Given the description of an element on the screen output the (x, y) to click on. 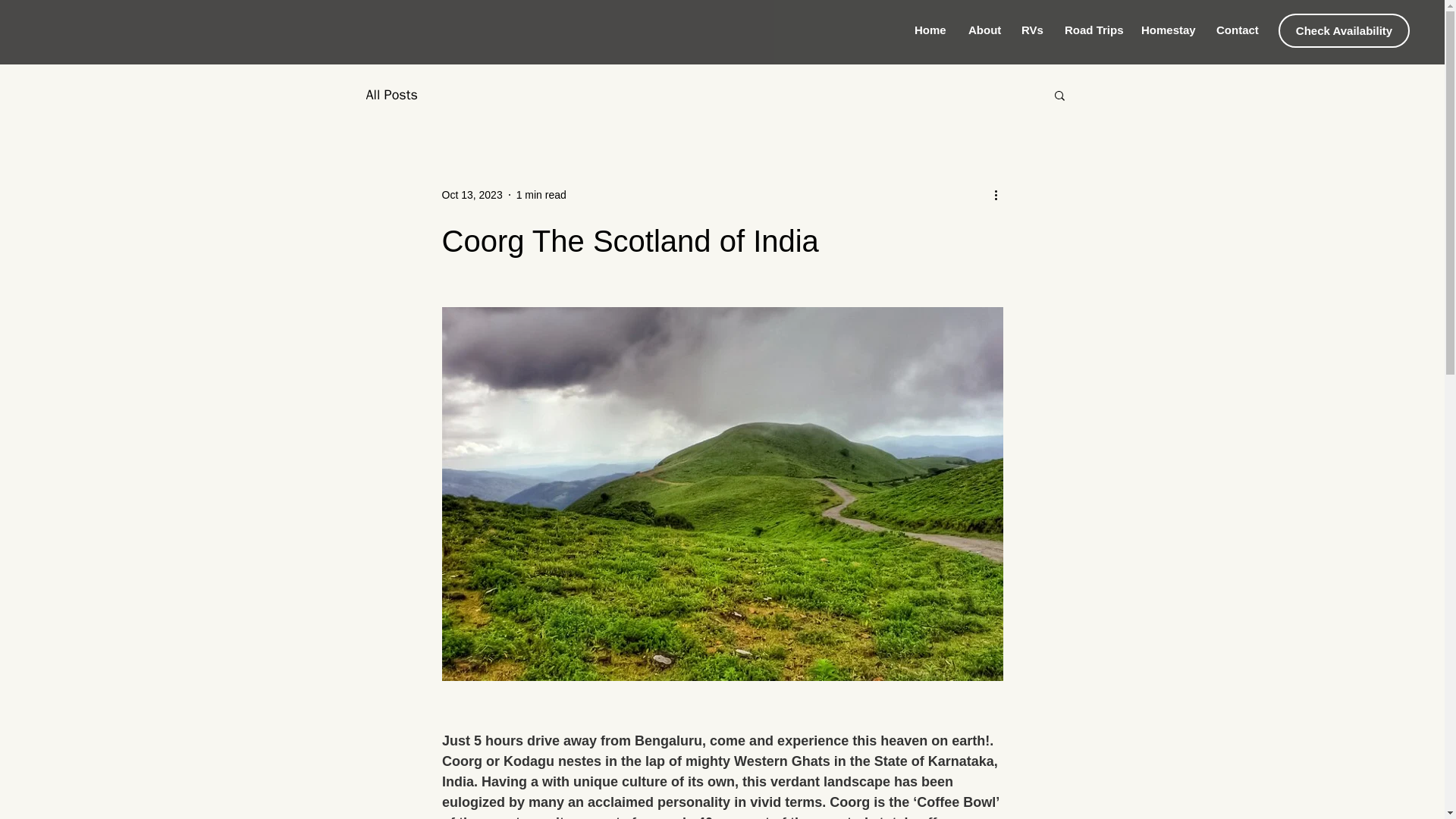
1 min read (541, 193)
All Posts (390, 94)
RVs (1031, 30)
About (983, 30)
Contact (1236, 30)
Homestay (1167, 30)
Road Trips (1090, 30)
Oct 13, 2023 (471, 193)
Check Availability (1343, 30)
Home (929, 30)
